Given the description of an element on the screen output the (x, y) to click on. 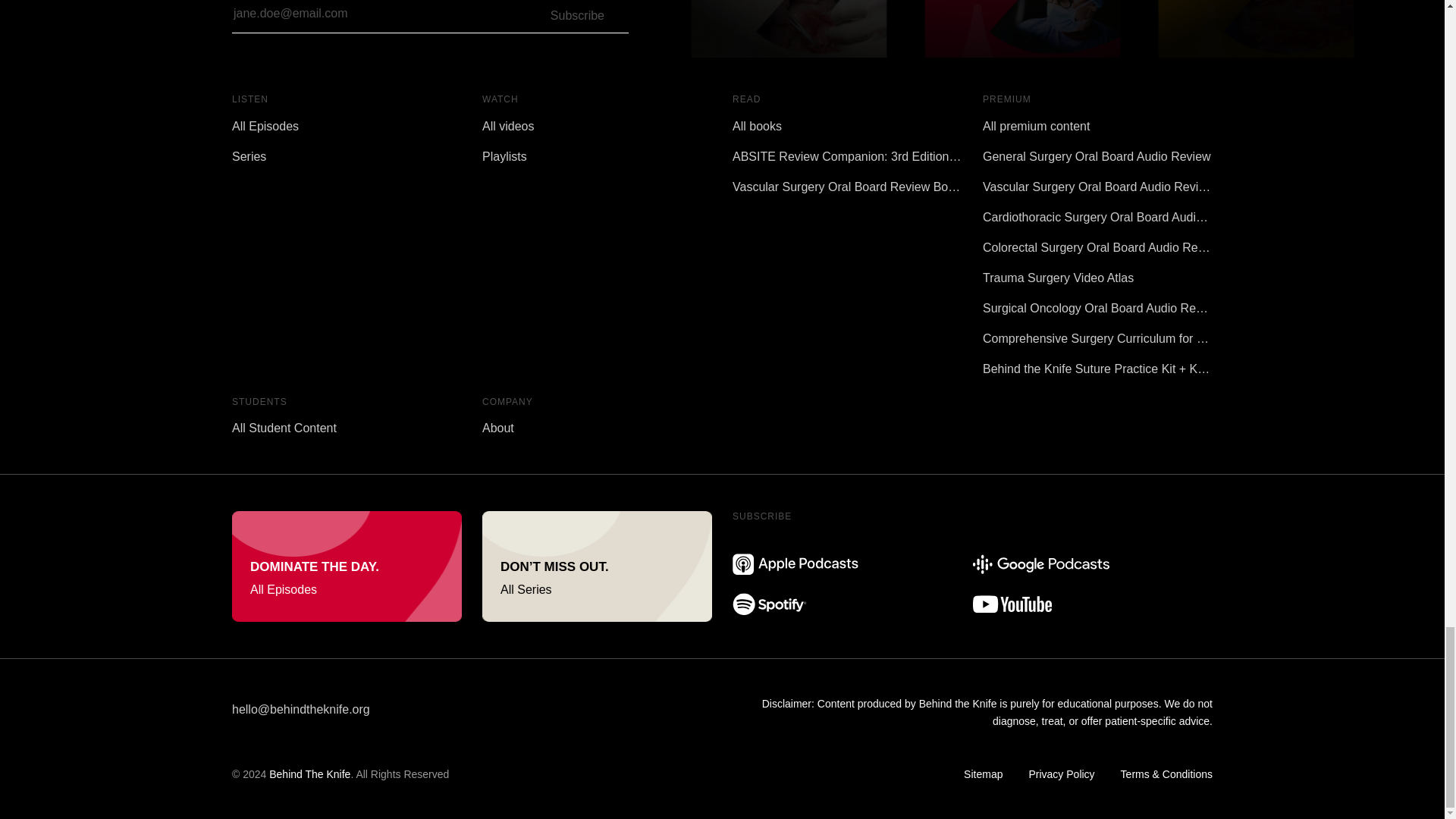
Spotify (769, 603)
Youtube (1011, 604)
Apple  Podcasts (795, 563)
All Episodes (346, 566)
All Series (596, 566)
Google Podcasts (1040, 564)
